Given the description of an element on the screen output the (x, y) to click on. 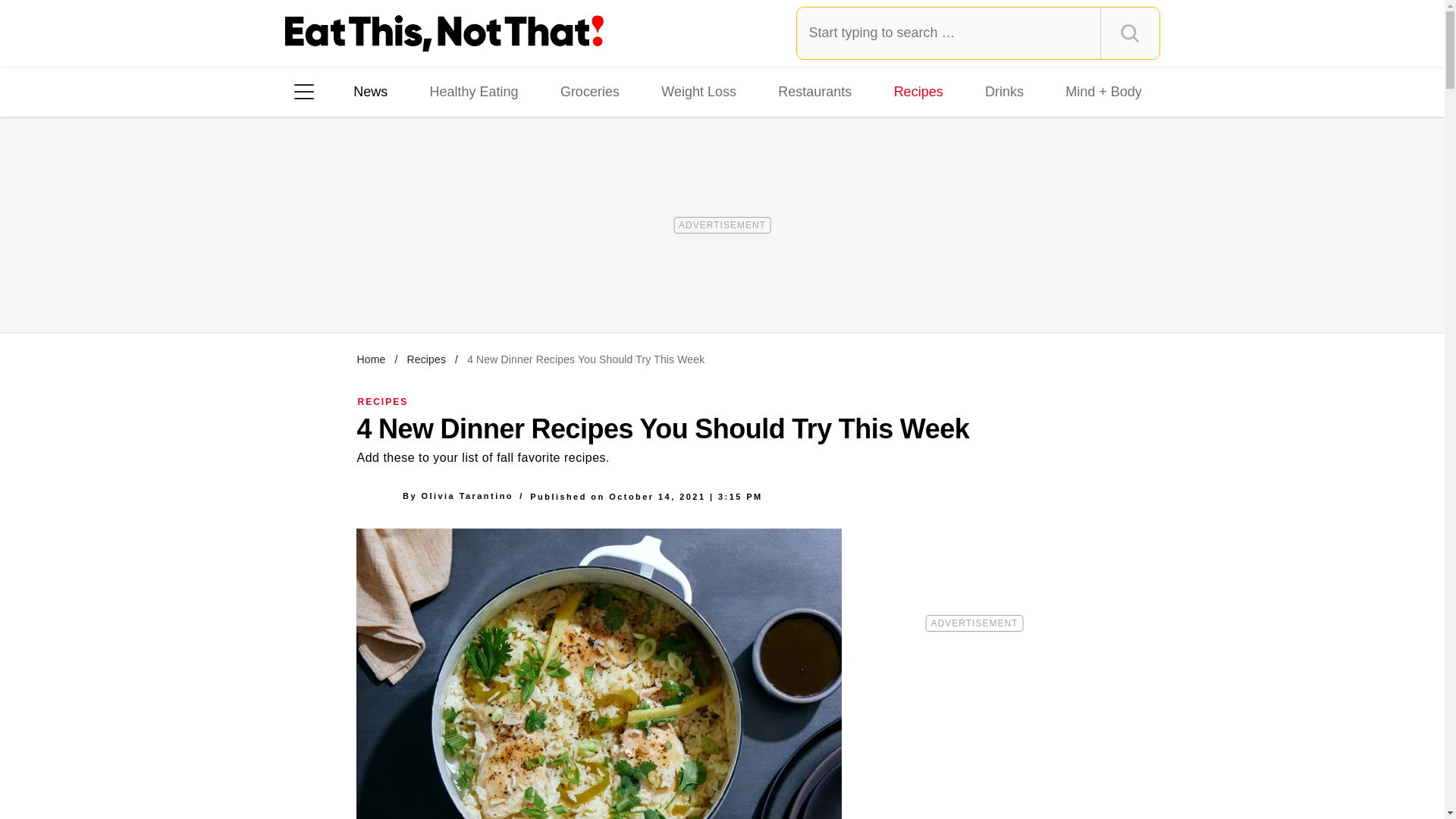
News (370, 91)
Pinterest (443, 287)
Olivia Tarantino (466, 495)
Healthy Eating (473, 91)
Eat This Not That Homepage (444, 33)
RECIPES (383, 401)
Home (370, 358)
Recipes (918, 91)
Groceries (590, 91)
Pinterest (443, 287)
